Given the description of an element on the screen output the (x, y) to click on. 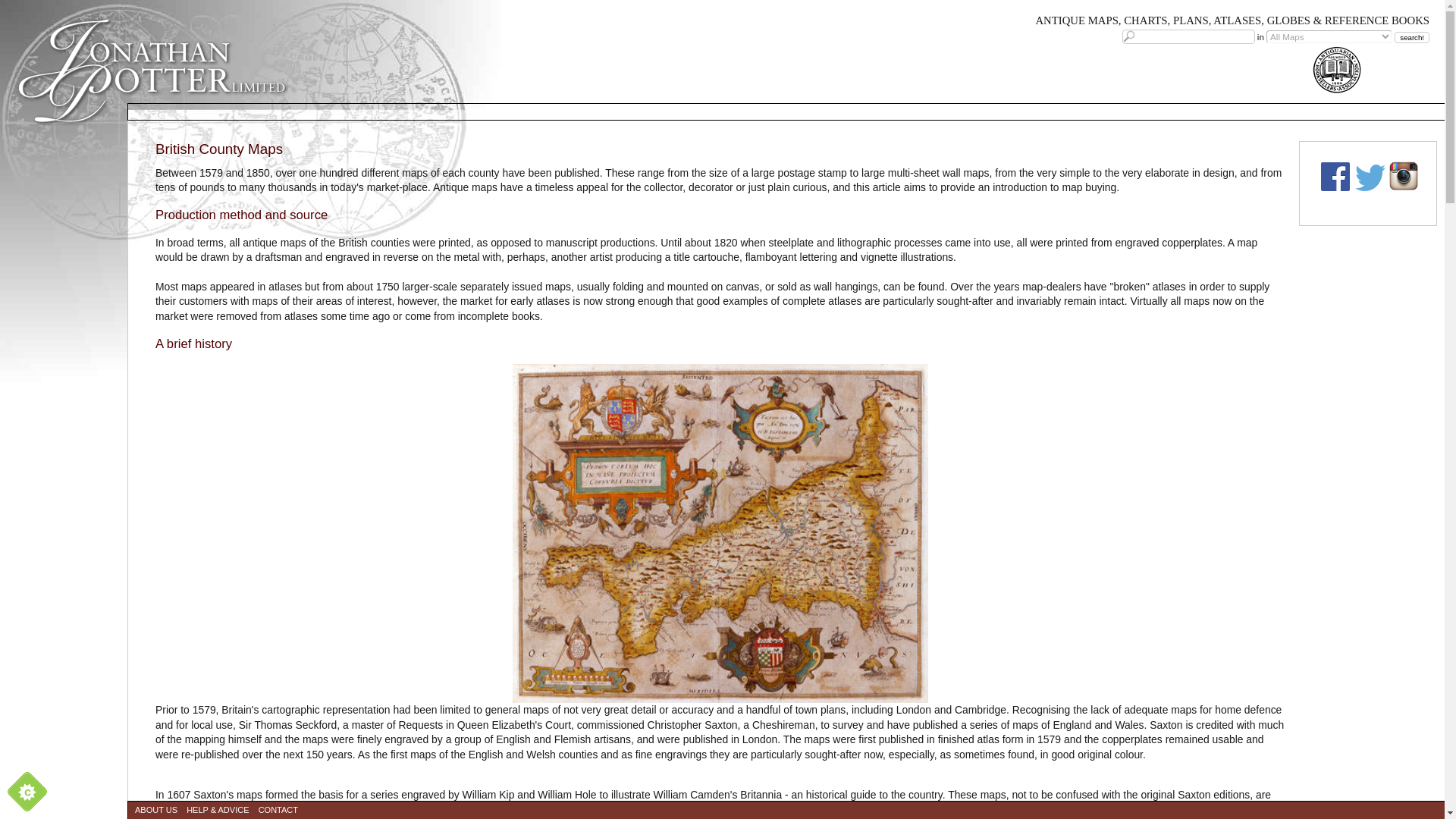
CONTACT (277, 809)
search! (1411, 37)
search! (1411, 37)
ABOUT US (155, 809)
